Given the description of an element on the screen output the (x, y) to click on. 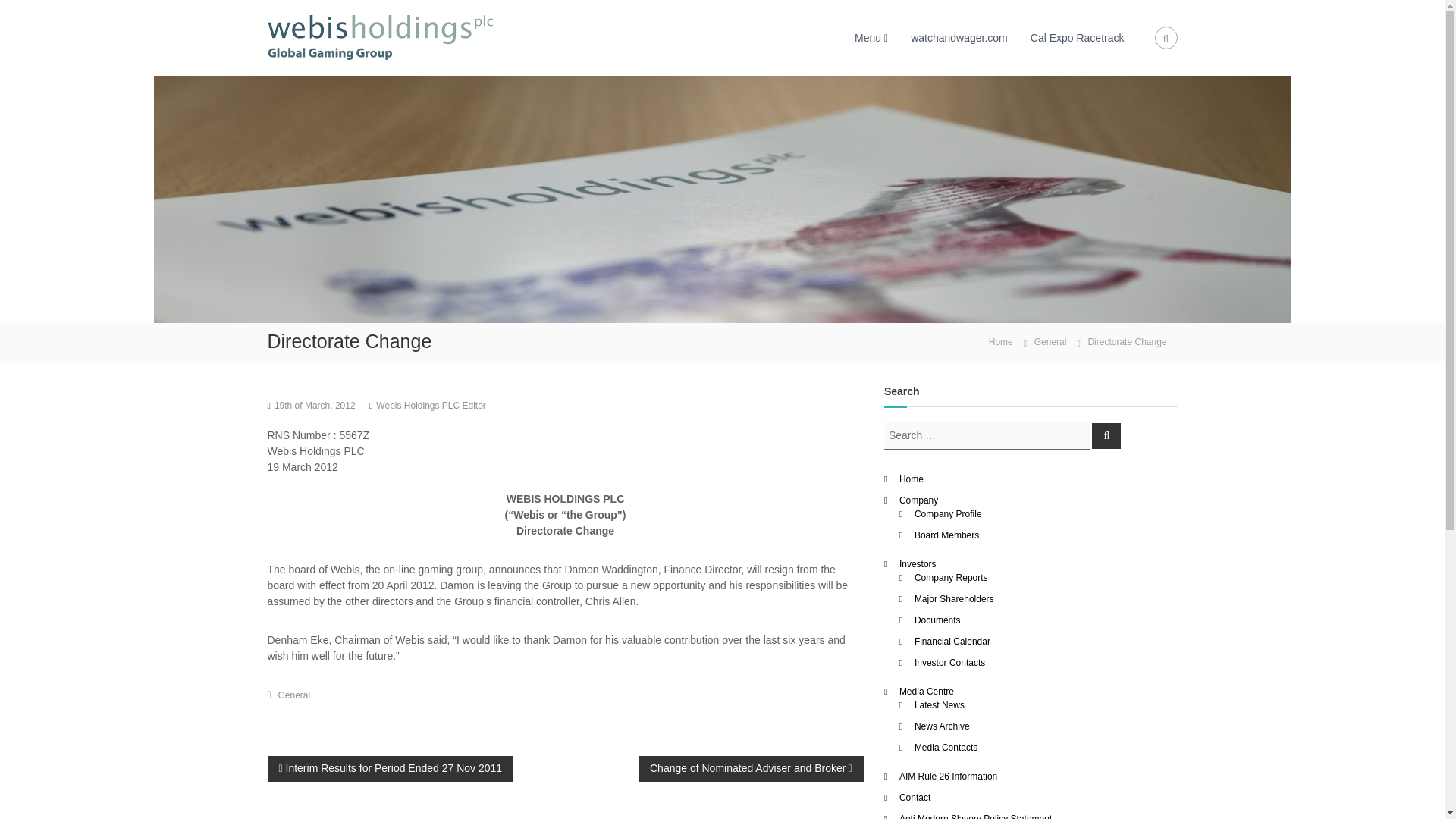
General (1050, 341)
Home (1000, 340)
Home (1000, 340)
Change of Nominated Adviser and Broker (751, 768)
19th of March, 2012 (315, 405)
Webis Holdings PLC Editor (430, 405)
Company Reports (951, 576)
watchandwager.com (959, 37)
Home (911, 478)
Board Members (946, 534)
Investors (917, 562)
General (294, 695)
Major Shareholders (954, 597)
Company Profile (947, 512)
Search (1106, 435)
